Given the description of an element on the screen output the (x, y) to click on. 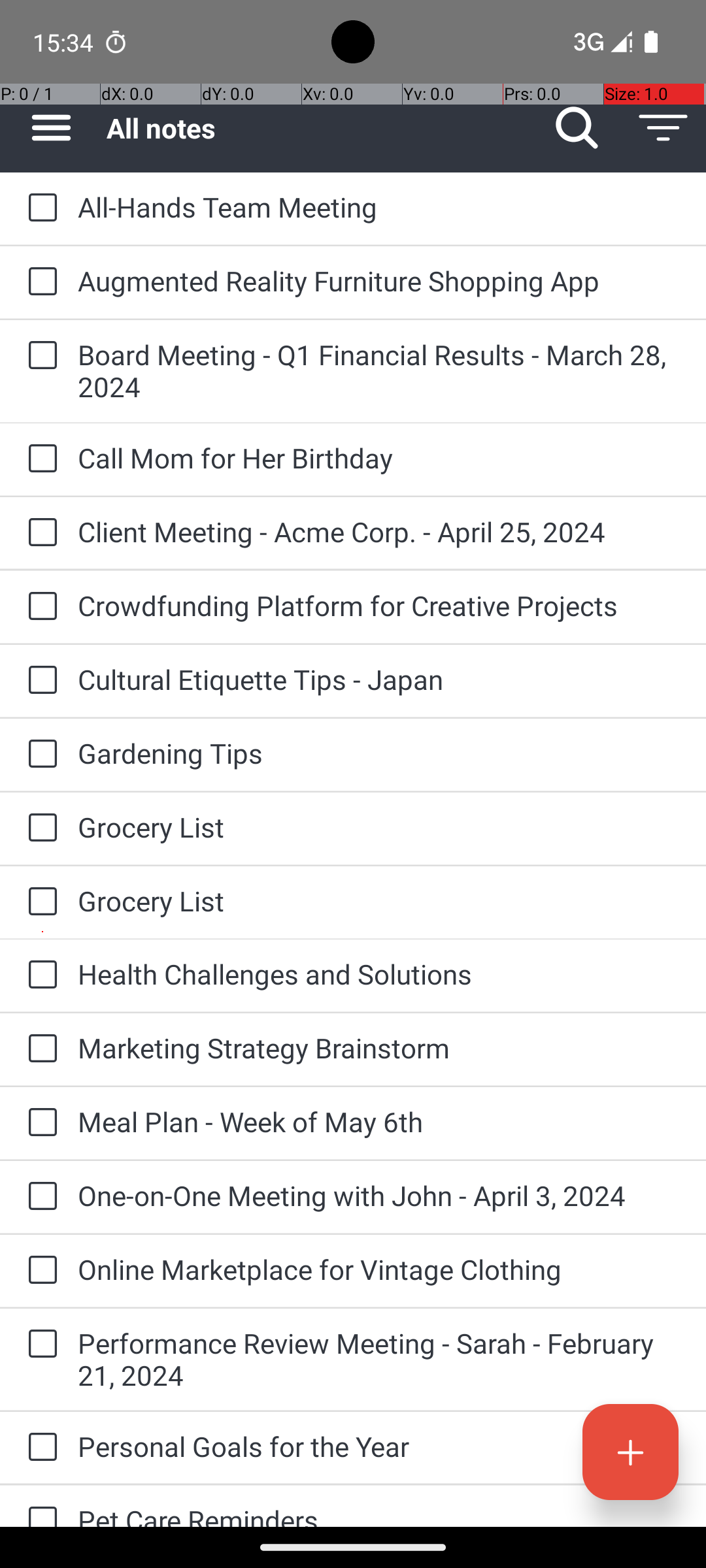
to-do: All-Hands Team Meeting Element type: android.widget.CheckBox (38, 208)
All-Hands Team Meeting Element type: android.widget.TextView (378, 206)
to-do: Augmented Reality Furniture Shopping App Element type: android.widget.CheckBox (38, 282)
Augmented Reality Furniture Shopping App Element type: android.widget.TextView (378, 280)
to-do: Board Meeting - Q1 Financial Results - March 28, 2024 Element type: android.widget.CheckBox (38, 356)
Board Meeting - Q1 Financial Results - March 28, 2024 Element type: android.widget.TextView (378, 370)
to-do: Call Mom for Her Birthday Element type: android.widget.CheckBox (38, 459)
Call Mom for Her Birthday Element type: android.widget.TextView (378, 457)
to-do: Client Meeting - Acme Corp. - April 25, 2024 Element type: android.widget.CheckBox (38, 533)
Client Meeting - Acme Corp. - April 25, 2024 Element type: android.widget.TextView (378, 531)
to-do: Crowdfunding Platform for Creative Projects Element type: android.widget.CheckBox (38, 606)
Crowdfunding Platform for Creative Projects Element type: android.widget.TextView (378, 604)
to-do: Cultural Etiquette Tips - Japan Element type: android.widget.CheckBox (38, 680)
Cultural Etiquette Tips - Japan Element type: android.widget.TextView (378, 678)
to-do: Gardening Tips Element type: android.widget.CheckBox (38, 754)
Gardening Tips Element type: android.widget.TextView (378, 752)
to-do: Health Challenges and Solutions Element type: android.widget.CheckBox (38, 975)
Health Challenges and Solutions Element type: android.widget.TextView (378, 973)
to-do: Marketing Strategy Brainstorm Element type: android.widget.CheckBox (38, 1049)
Marketing Strategy Brainstorm Element type: android.widget.TextView (378, 1047)
to-do: Meal Plan - Week of May 6th Element type: android.widget.CheckBox (38, 1123)
Meal Plan - Week of May 6th Element type: android.widget.TextView (378, 1121)
to-do: One-on-One Meeting with John - April 3, 2024 Element type: android.widget.CheckBox (38, 1196)
One-on-One Meeting with John - April 3, 2024 Element type: android.widget.TextView (378, 1194)
to-do: Performance Review Meeting - Sarah - February 21, 2024 Element type: android.widget.CheckBox (38, 1344)
Performance Review Meeting - Sarah - February 21, 2024 Element type: android.widget.TextView (378, 1358)
to-do: Personal Goals for the Year Element type: android.widget.CheckBox (38, 1447)
Personal Goals for the Year Element type: android.widget.TextView (378, 1445)
to-do: Pet Care Reminders Element type: android.widget.CheckBox (38, 1505)
Pet Care Reminders Element type: android.widget.TextView (378, 1513)
